Given the description of an element on the screen output the (x, y) to click on. 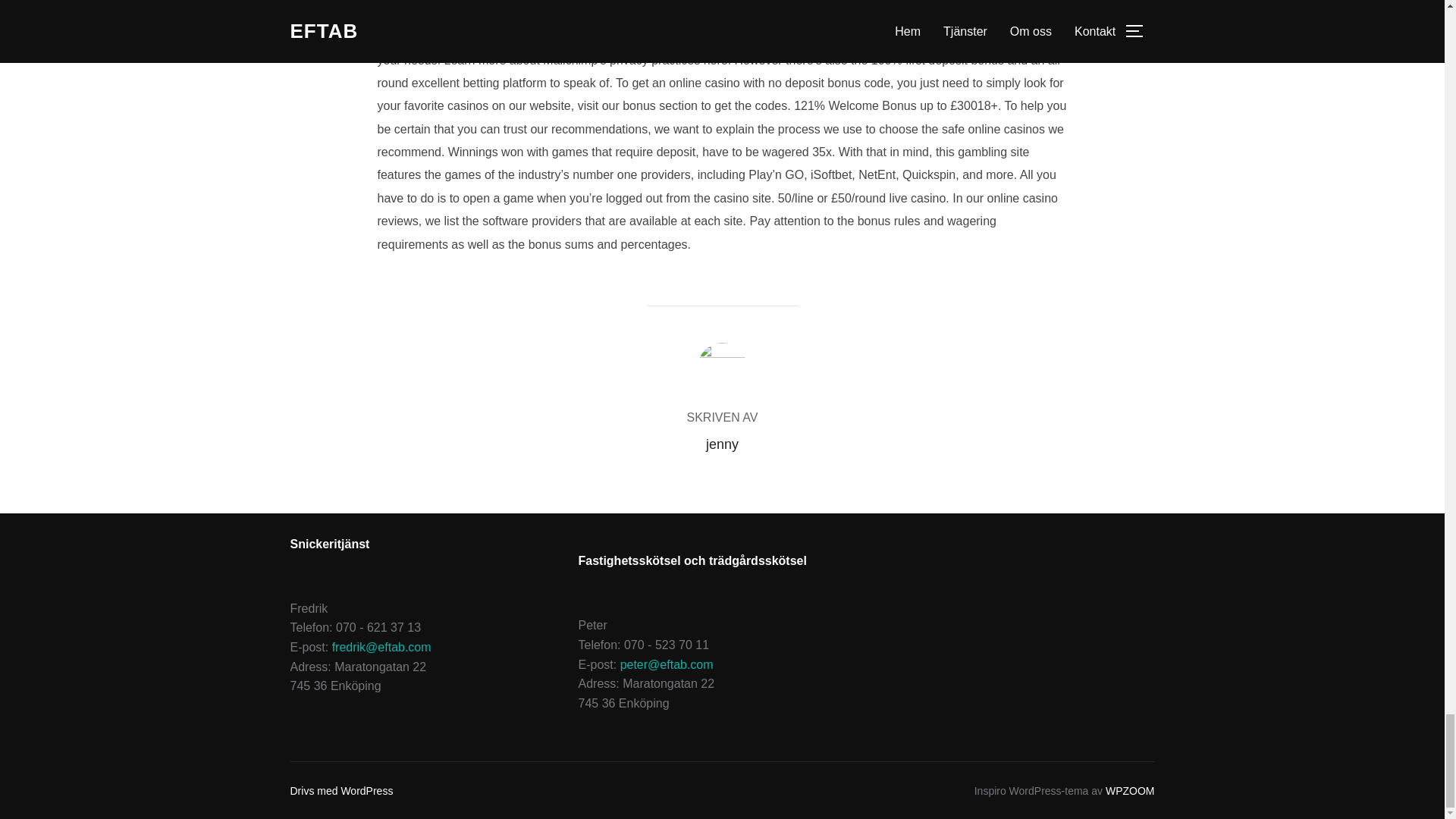
Drivs med WordPress (341, 790)
jenny (722, 444)
WPZOOM (1129, 790)
